Given the description of an element on the screen output the (x, y) to click on. 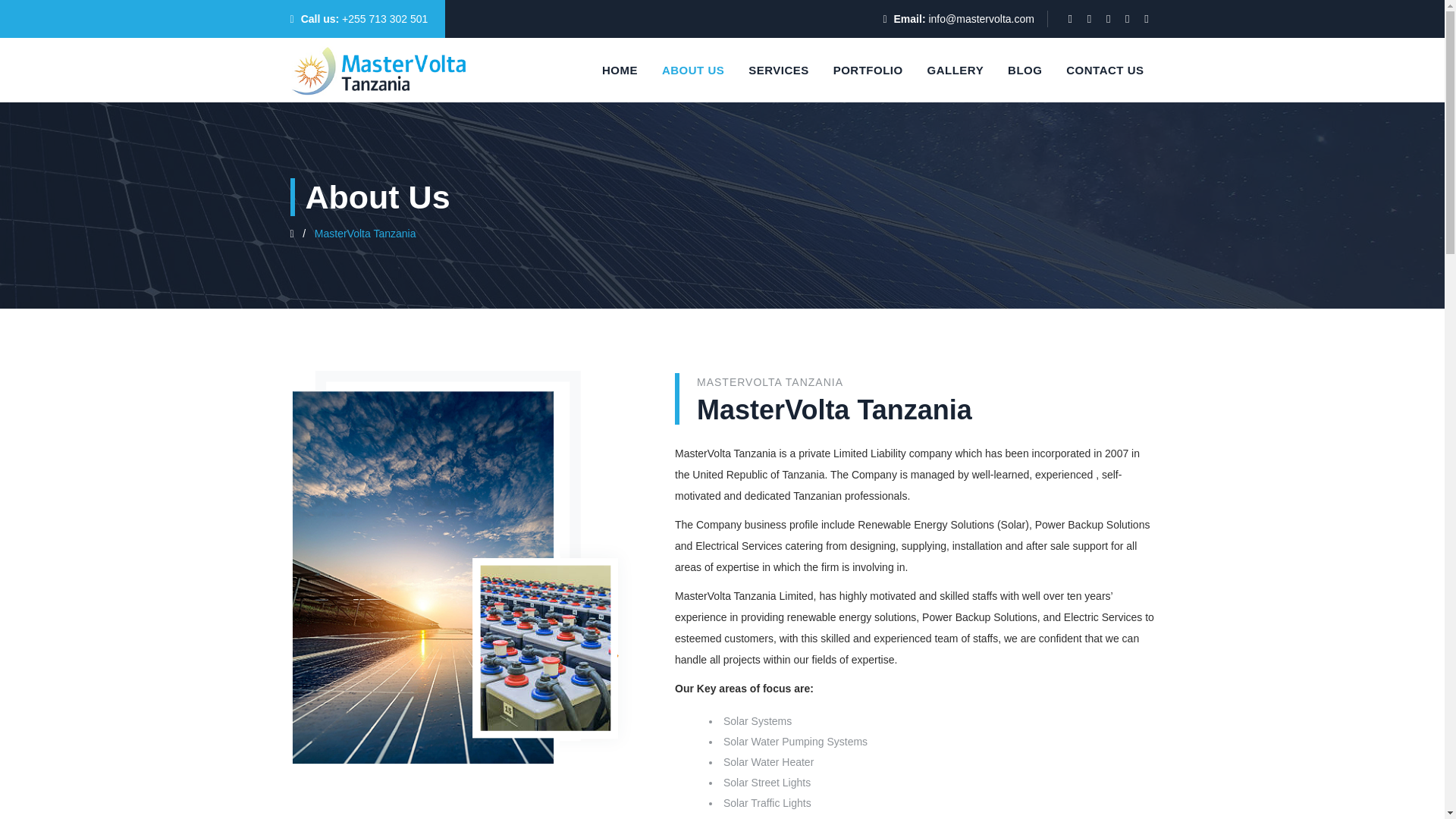
MasterVolta Tanzania Limited (378, 69)
GALLERY (955, 69)
CONTACT US (1104, 69)
SERVICES (778, 69)
PORTFOLIO (868, 69)
ABOUT US (692, 69)
